Given the description of an element on the screen output the (x, y) to click on. 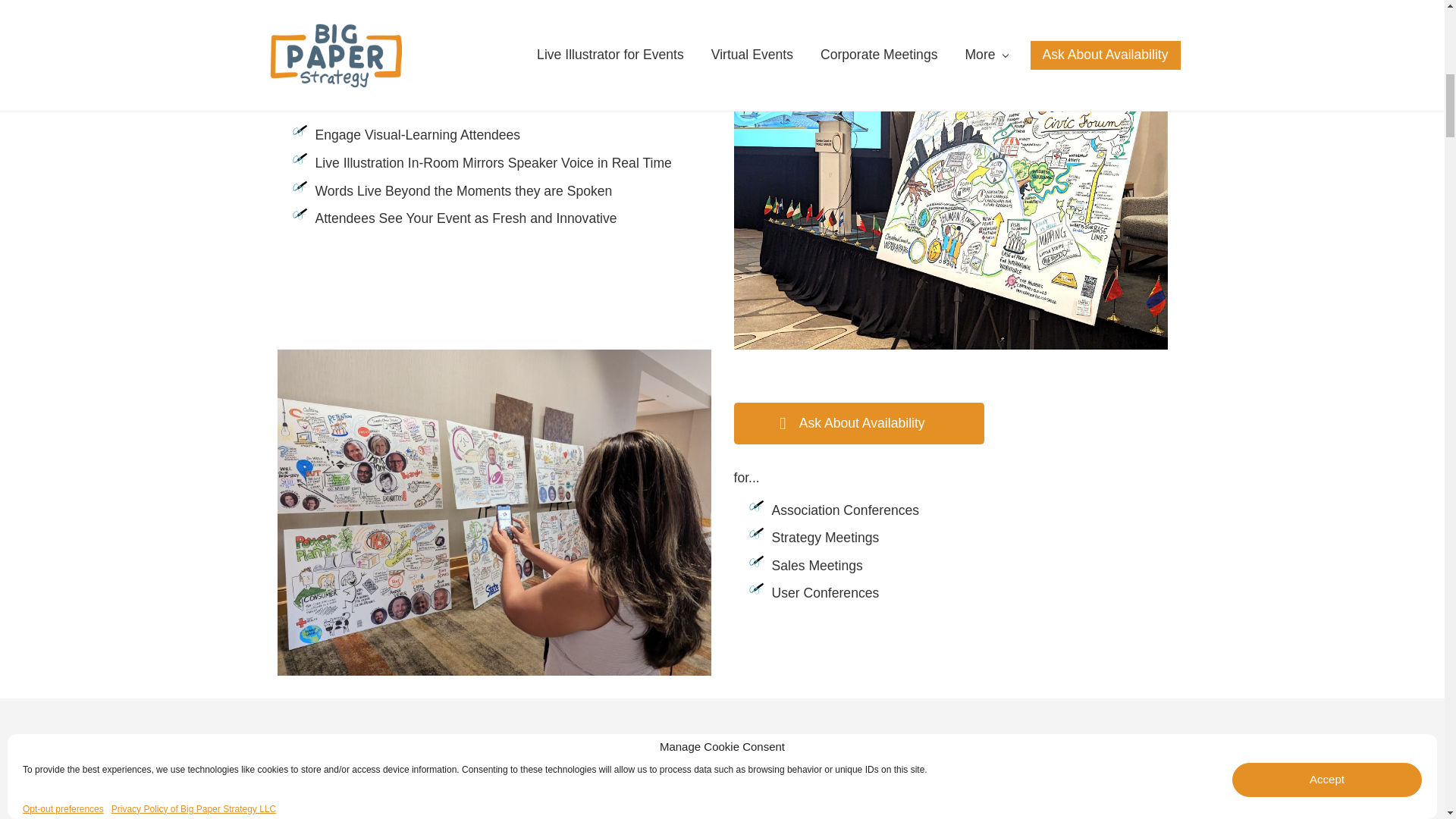
Live Illustration, a Conference Feature that Attendees Love (494, 11)
Privacy Policy of Big Paper Strategy LLC (194, 400)
Opt-out preferences (63, 400)
Accept (1326, 369)
